Given the description of an element on the screen output the (x, y) to click on. 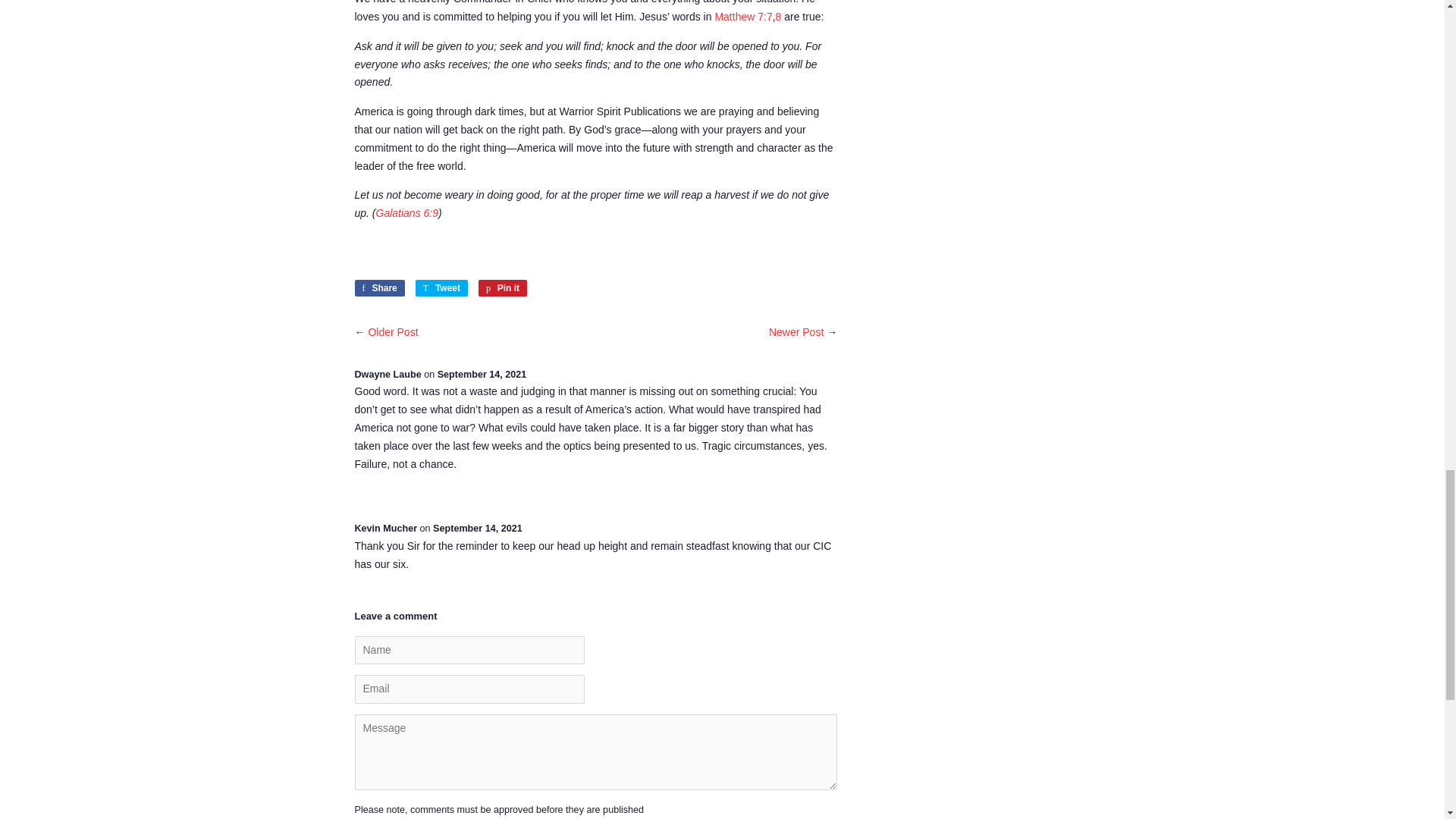
Galatians 6:9 (503, 288)
Newer Post (407, 213)
Share on Facebook (440, 288)
Pin on Pinterest (796, 331)
Older Post (379, 288)
Tweet on Twitter (503, 288)
Matthew 7:7 (392, 331)
